Given the description of an element on the screen output the (x, y) to click on. 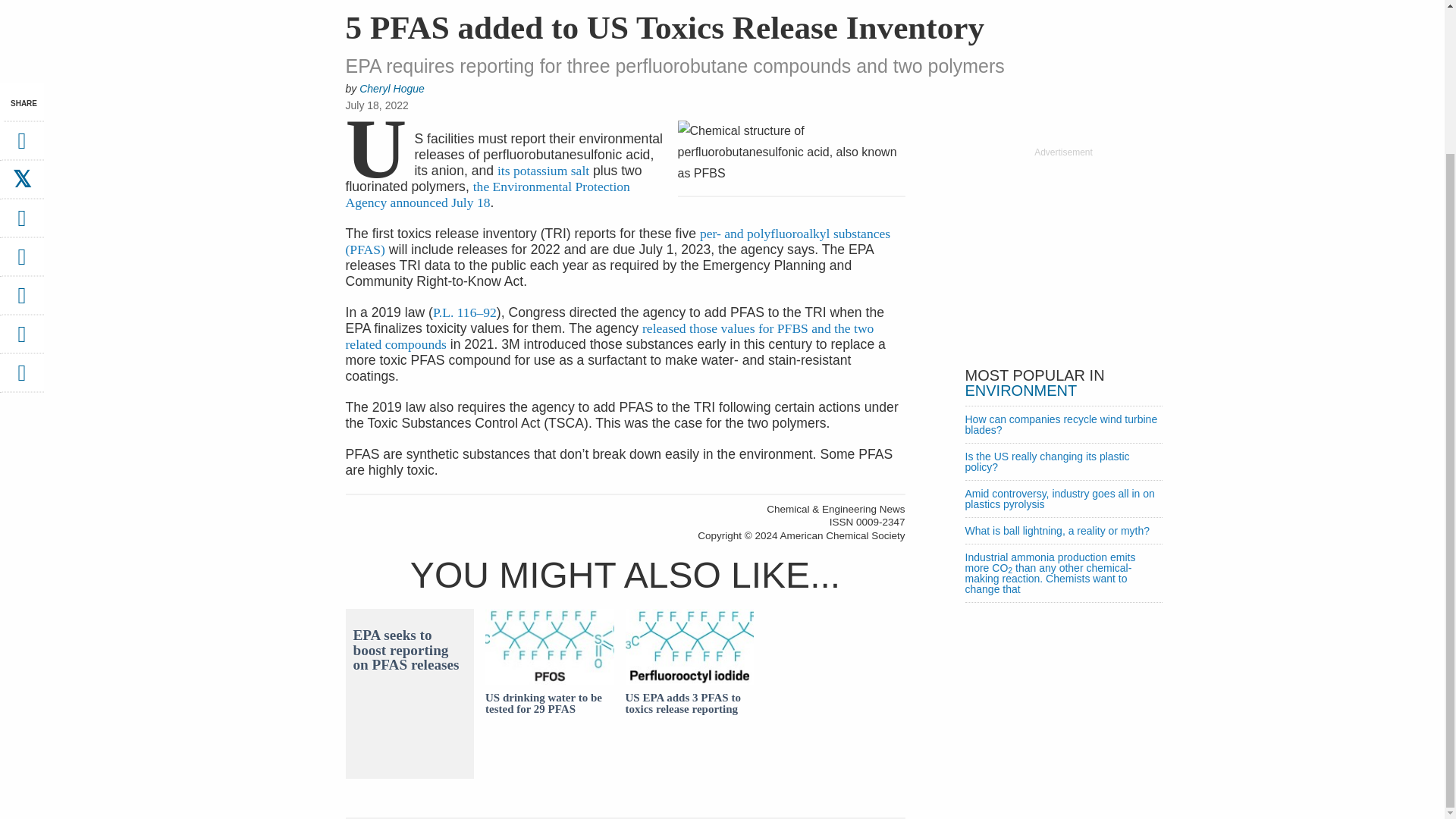
2022-15268.pdf (488, 194)
3rd party ad content (1062, 253)
2022-15268.pdf (543, 170)
